Given the description of an element on the screen output the (x, y) to click on. 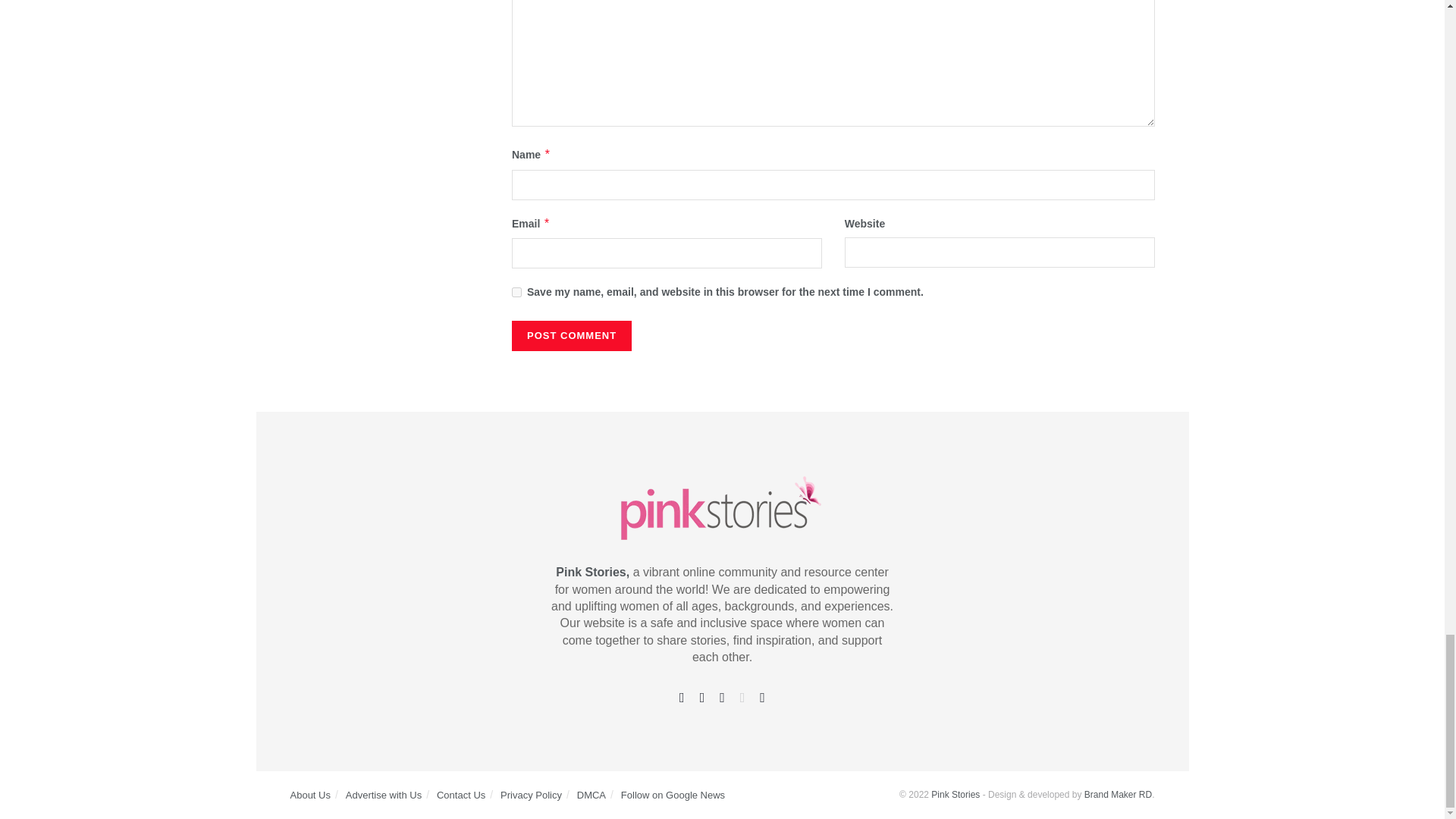
Pink Stories (955, 794)
Post Comment (571, 336)
yes (516, 292)
Brand Maker RD (1117, 794)
